Given the description of an element on the screen output the (x, y) to click on. 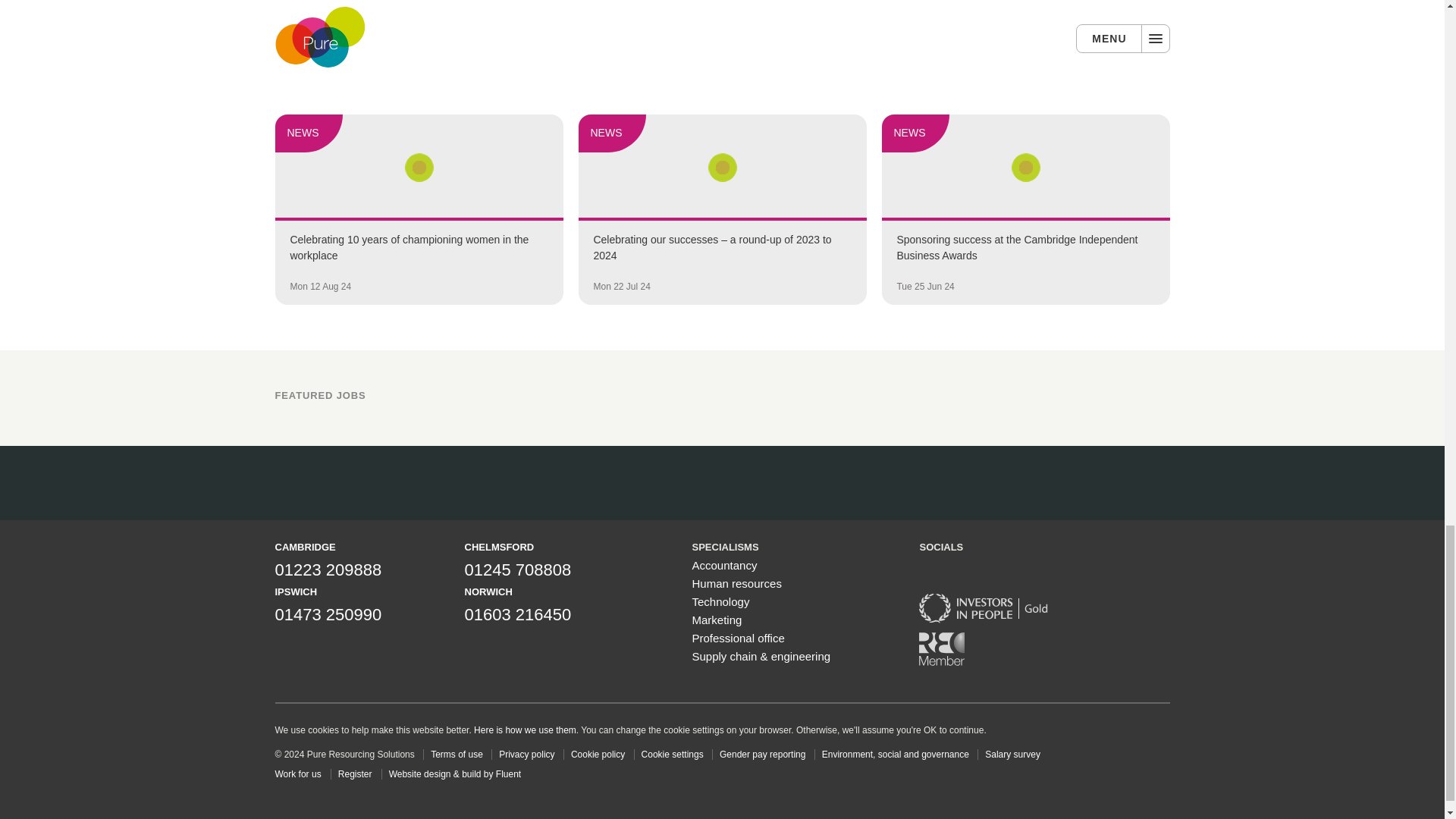
01603 216450 (517, 614)
Call Norwich office (517, 614)
Call Chelmsford office (517, 569)
Professional office (737, 637)
Share on Facebook (483, 7)
01223 209888 (328, 569)
Human resources (735, 583)
Share on X (442, 7)
Call Cambridge office (328, 569)
